Given the description of an element on the screen output the (x, y) to click on. 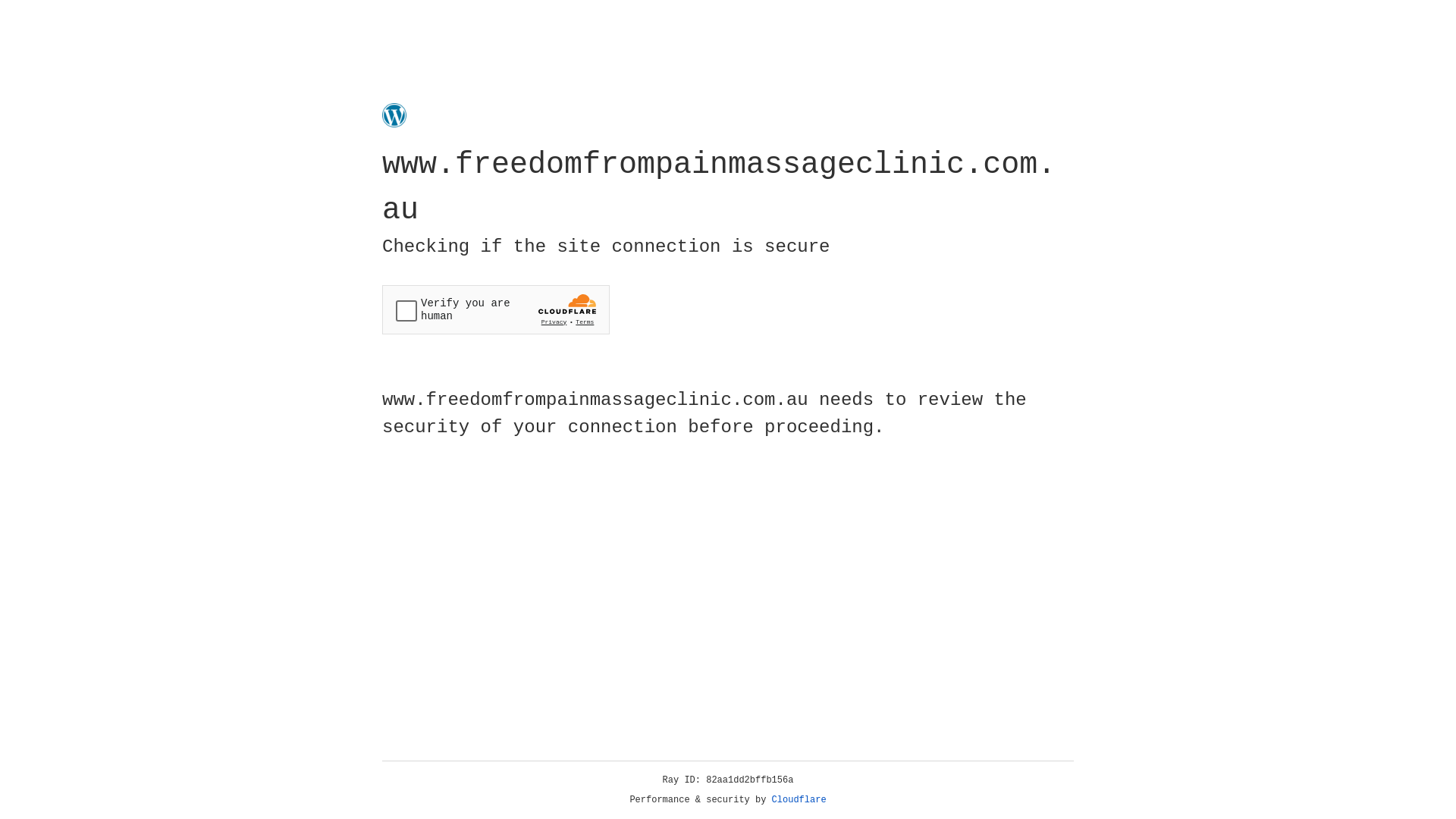
Cloudflare Element type: text (798, 799)
Widget containing a Cloudflare security challenge Element type: hover (495, 309)
